Given the description of an element on the screen output the (x, y) to click on. 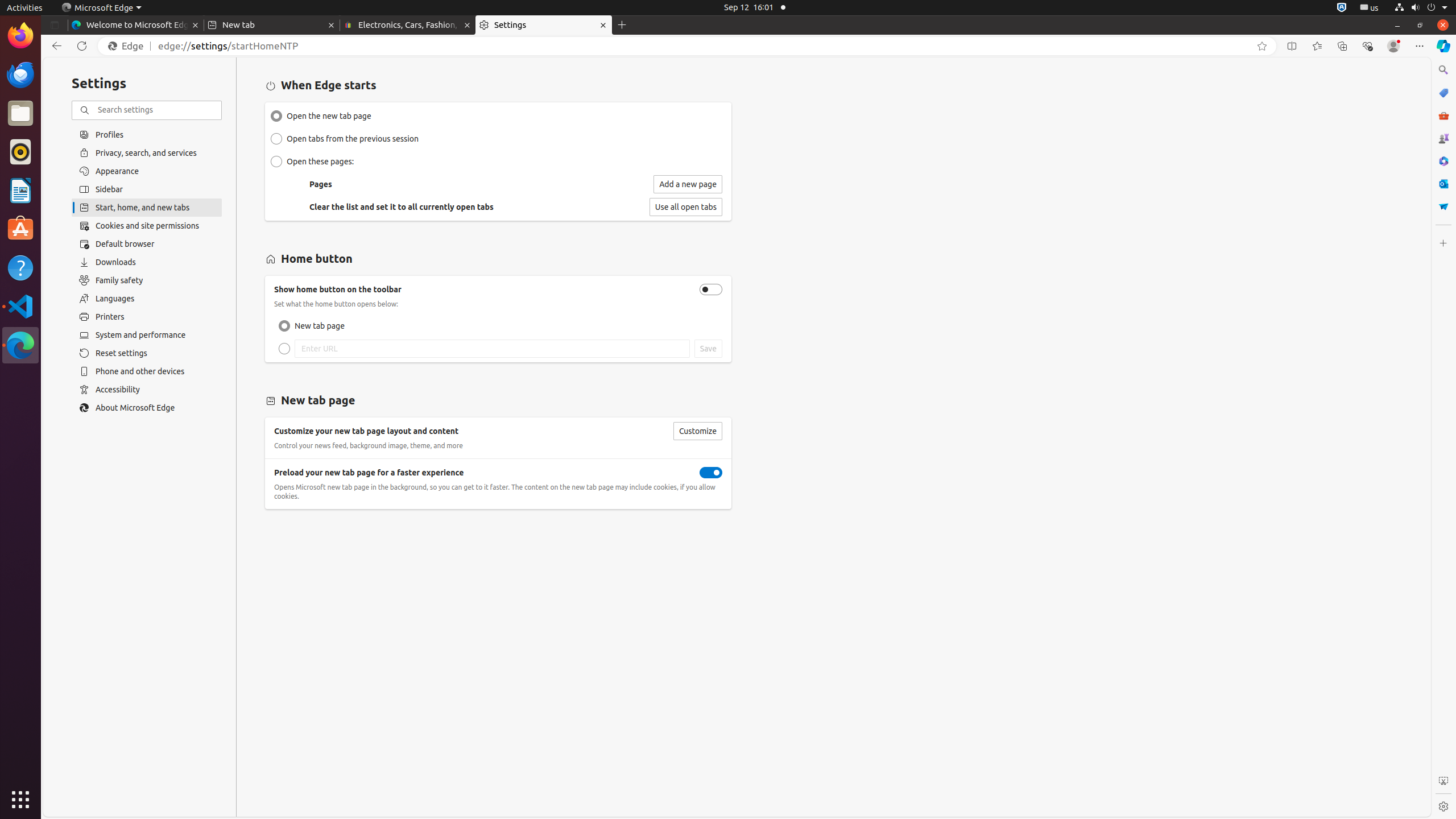
Customize Element type: push-button (1443, 243)
Phone and other devices Element type: tree-item (146, 371)
Split screen Element type: push-button (1291, 45)
Copilot (Ctrl+Shift+.) Element type: push-button (1443, 45)
Electronics, Cars, Fashion, Collectibles & More | eBay Element type: page-tab (407, 25)
